Given the description of an element on the screen output the (x, y) to click on. 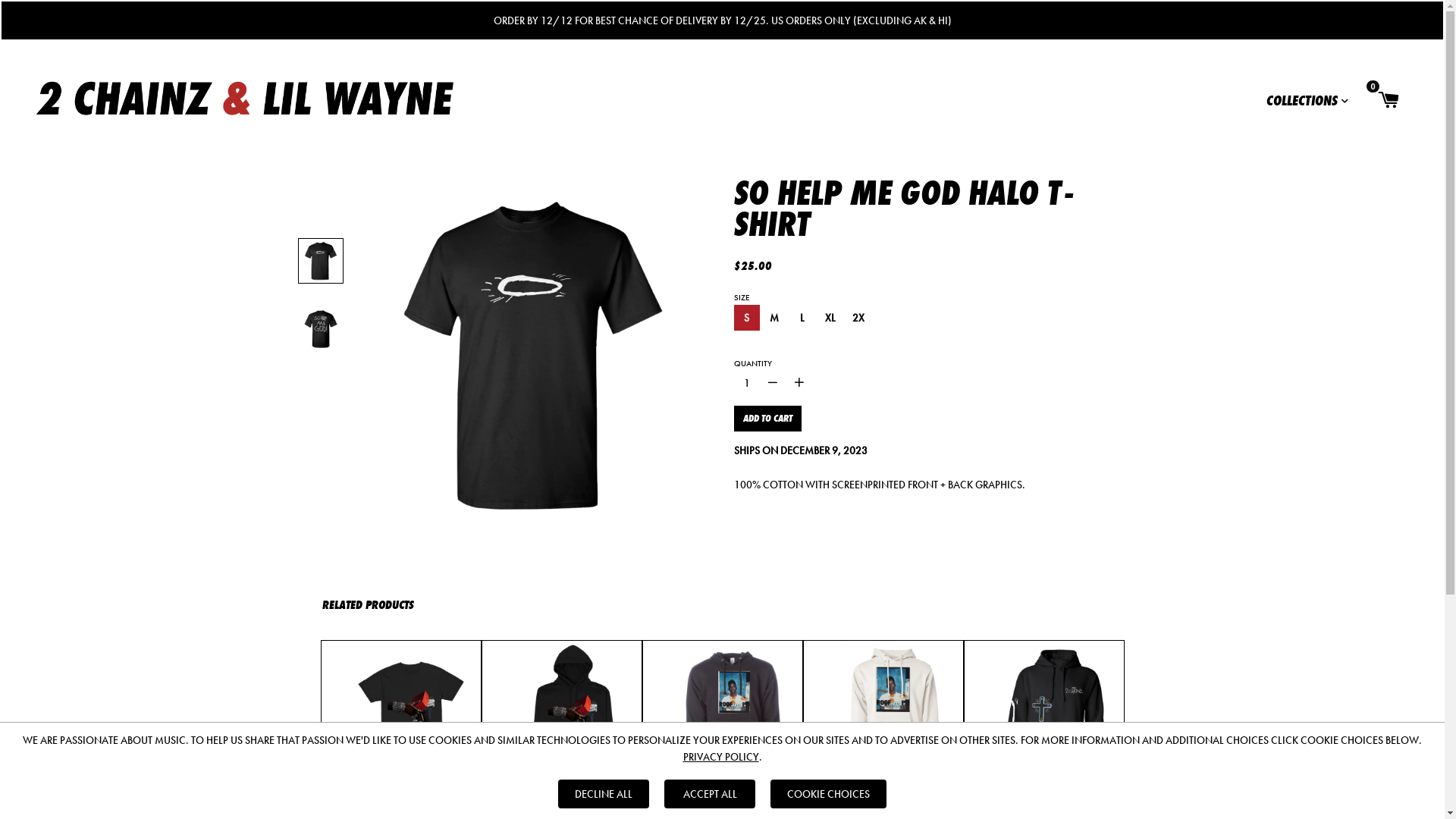
COOKIE CHOICES Element type: text (828, 793)
DECLINE ALL Element type: text (603, 793)
PRIVACY POLICY Element type: text (720, 756)
ADD TO CART Element type: text (767, 418)
0 Element type: text (1396, 97)
COLLECTIONS Element type: text (1307, 97)
ACCEPT ALL Element type: text (709, 793)
+ Element type: text (799, 382)
So Help Me God Halo T-Shirt Element type: hover (532, 355)
